Given the description of an element on the screen output the (x, y) to click on. 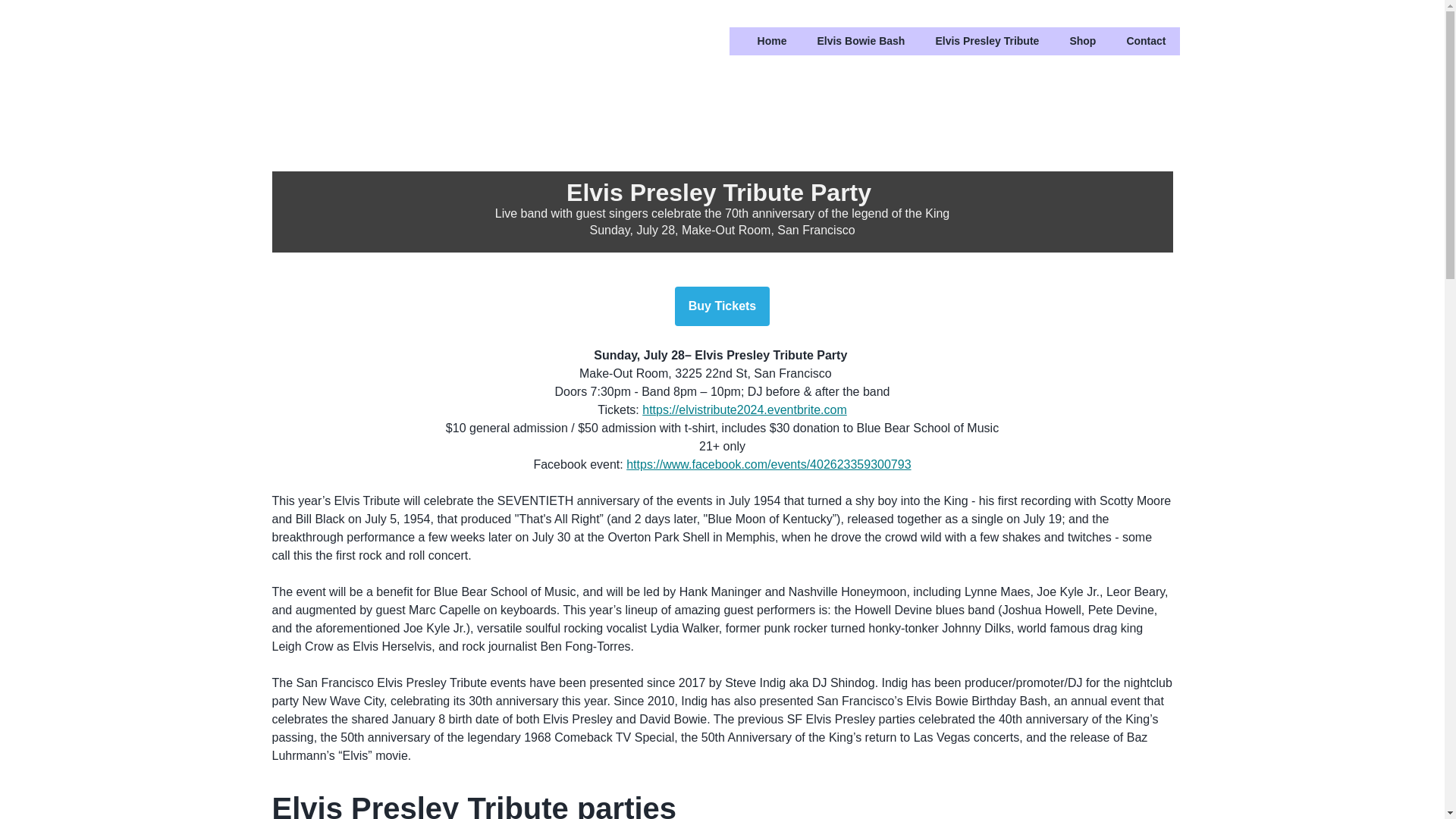
Contact (1145, 40)
Buy Tickets (722, 305)
Elvis Bowie Bash (860, 40)
Shop (1082, 40)
Elvis Presley Tribute (986, 40)
Buy Tickets (722, 305)
Home (772, 40)
